Given the description of an element on the screen output the (x, y) to click on. 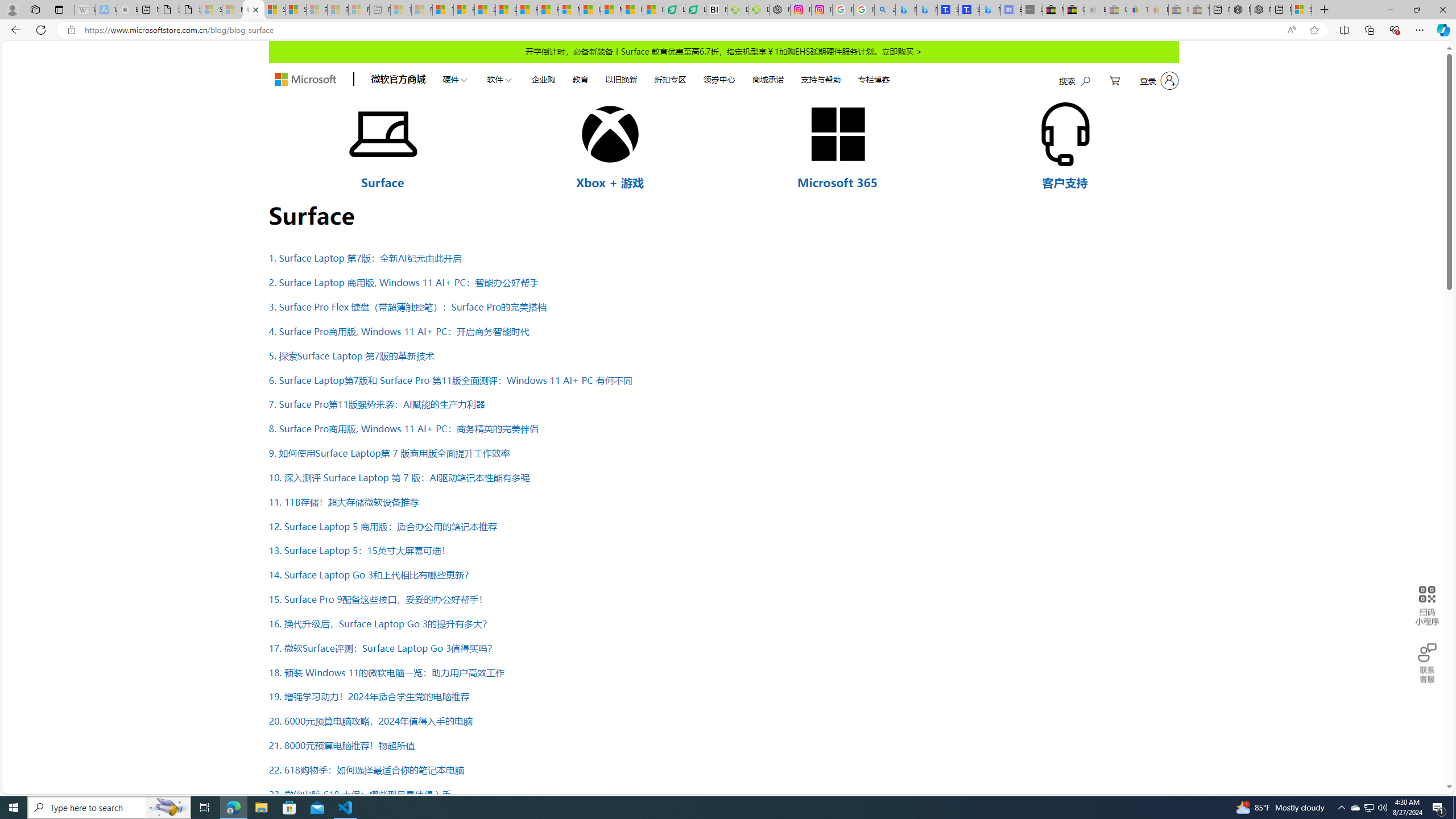
Microsoft account | Account Checkup - Sleeping (358, 9)
Microsoft Bing Travel - Flights from Hong Kong to Bangkok (906, 9)
